Given the description of an element on the screen output the (x, y) to click on. 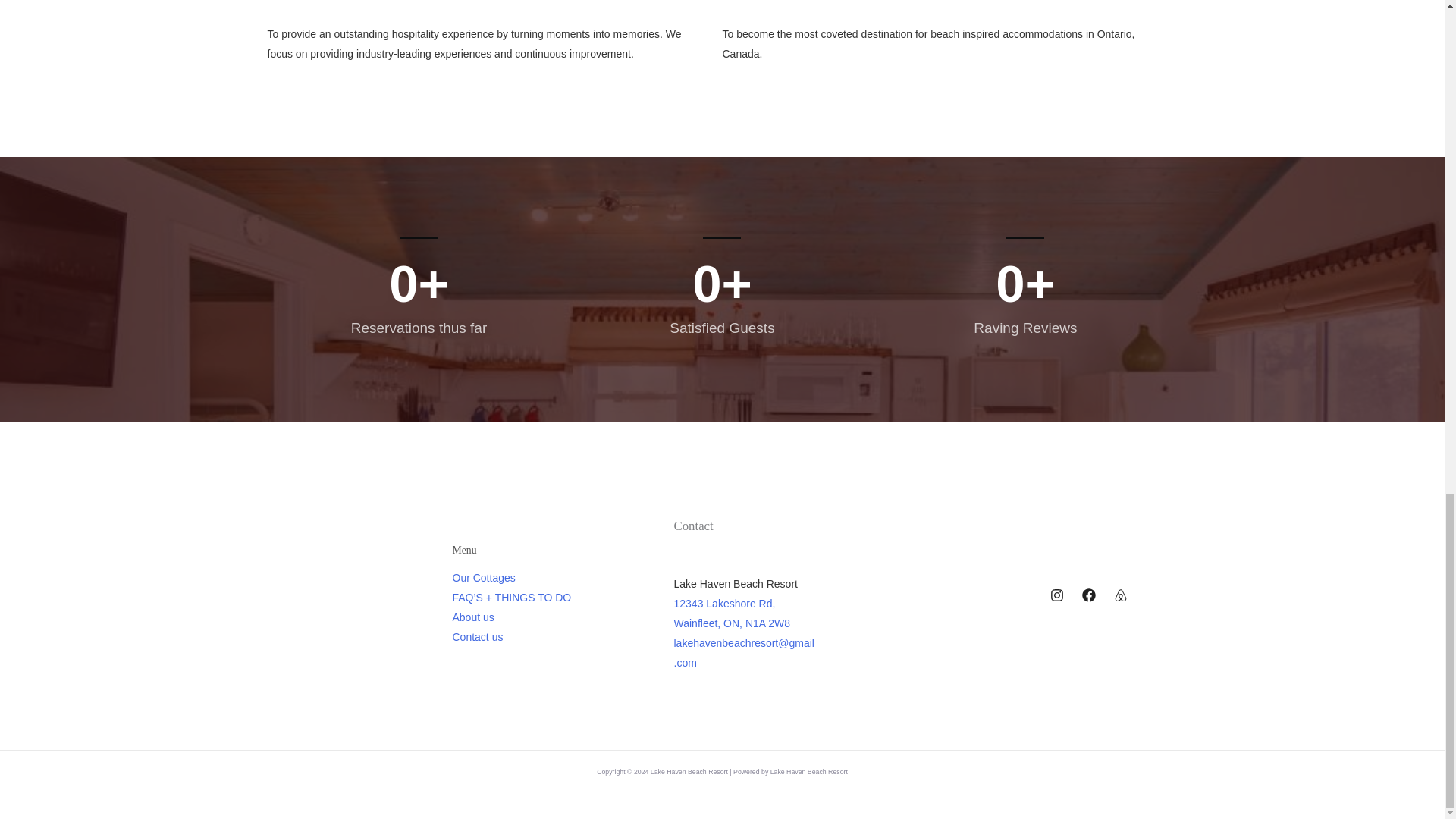
Contact us (476, 636)
Our Cottages (483, 577)
12343 Lakeshore Rd, Wainfleet, ON, N1A 2W8 (731, 613)
About us (472, 616)
